Given the description of an element on the screen output the (x, y) to click on. 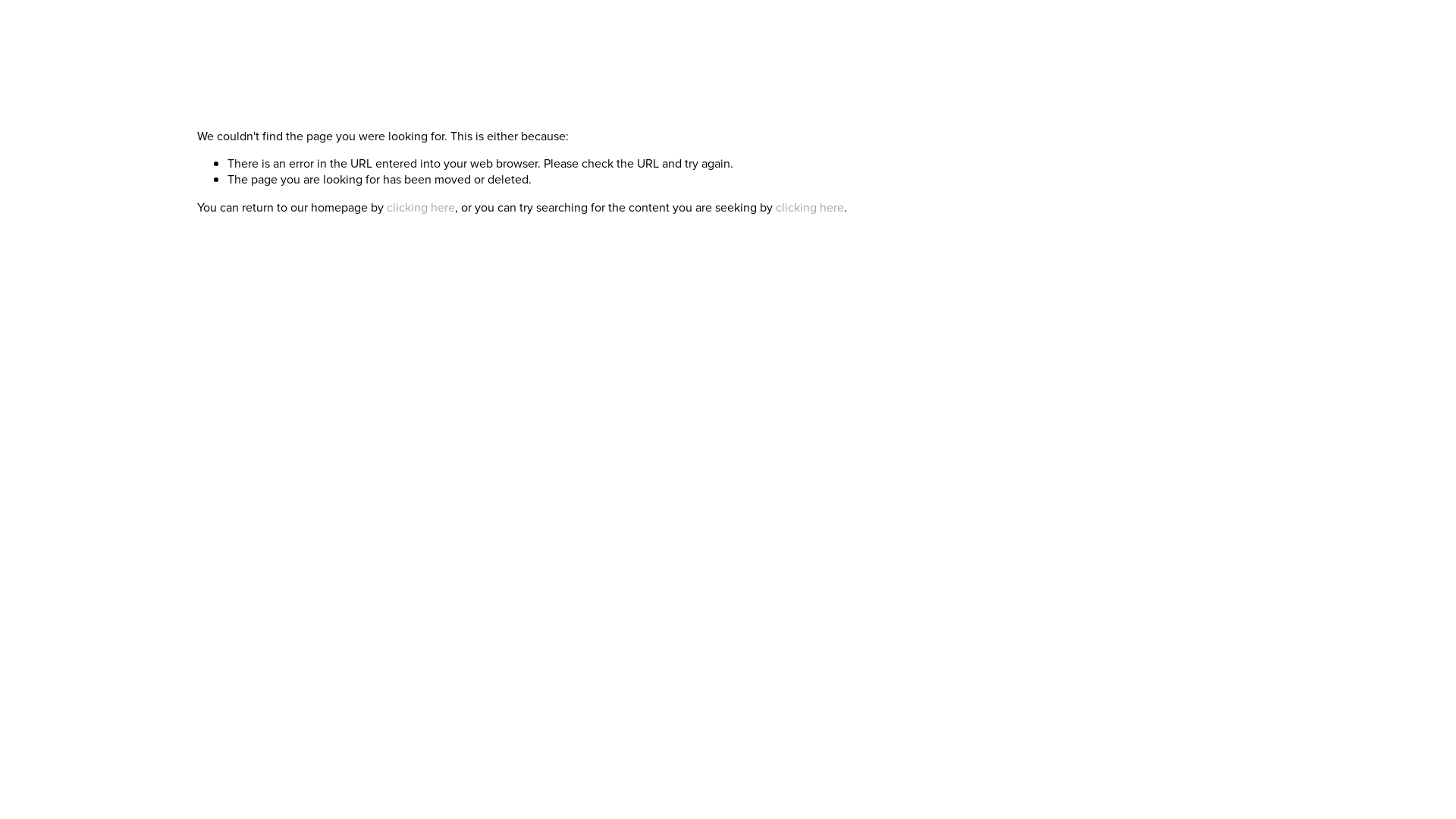
clicking here Element type: text (420, 207)
clicking here Element type: text (809, 207)
